Given the description of an element on the screen output the (x, y) to click on. 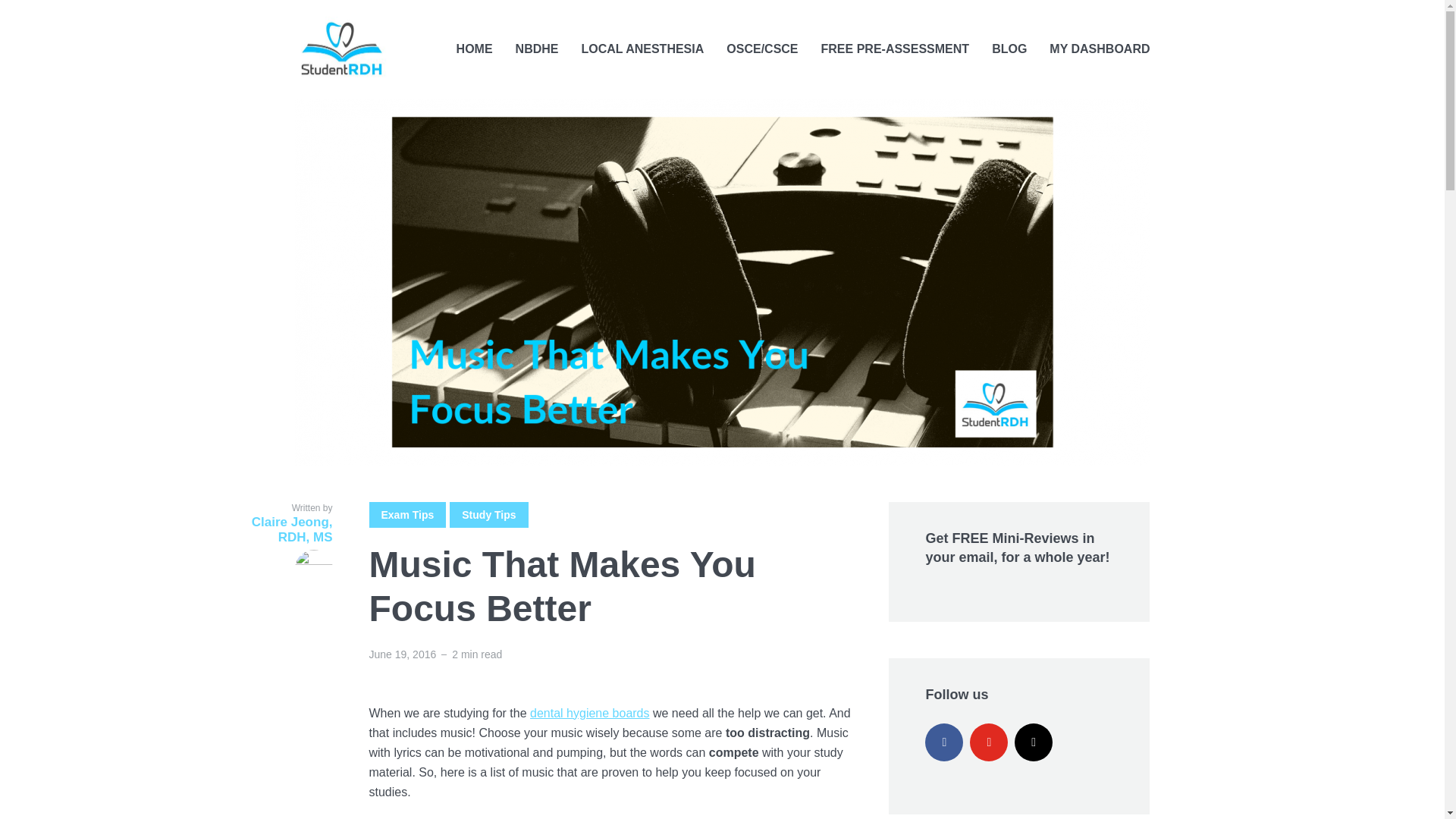
MY DASHBOARD (1099, 48)
HOME (475, 48)
dental hygiene boards (589, 712)
Facebook (943, 742)
Instagram (1033, 742)
youtube (988, 742)
Study Tips (488, 514)
facebook (943, 742)
FREE PRE-ASSESSMENT (895, 48)
YouTube (988, 742)
